Given the description of an element on the screen output the (x, y) to click on. 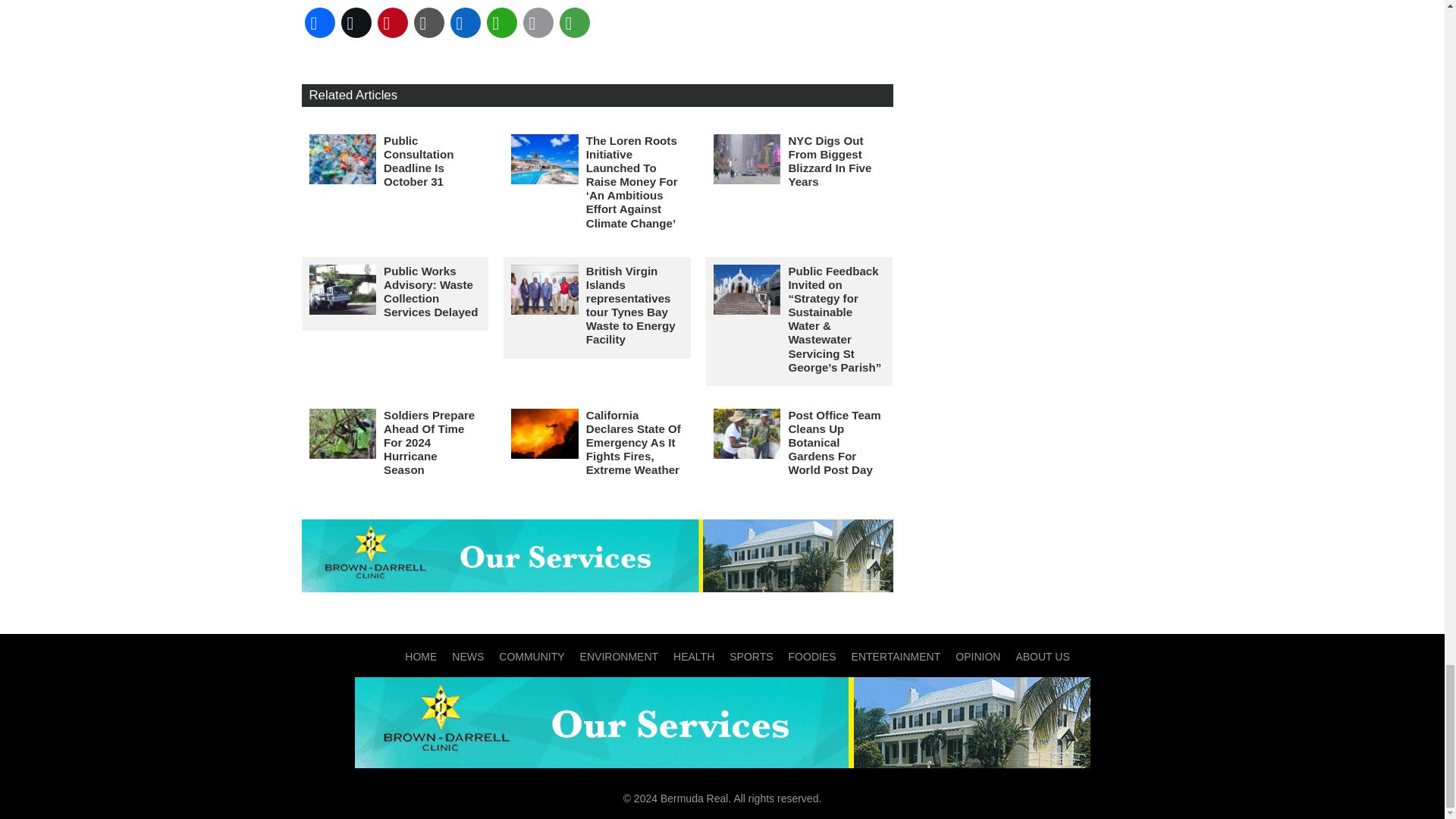
Email This (537, 22)
Soldiers Prepare Ahead Of Time For 2024 Hurricane Season (429, 442)
Public Works Advisory: Waste Collection Services Delayed (342, 289)
Public Works Advisory: Waste Collection Services Delayed (430, 291)
Public Consultation Deadline Is October 31 (342, 159)
Public Consultation Deadline Is October 31 (418, 161)
Public Works Advisory: Waste Collection Services Delayed (430, 291)
NYC Digs Out From Biggest Blizzard In Five Years (828, 161)
NYC Digs Out From Biggest Blizzard In Five Years (828, 161)
